Given the description of an element on the screen output the (x, y) to click on. 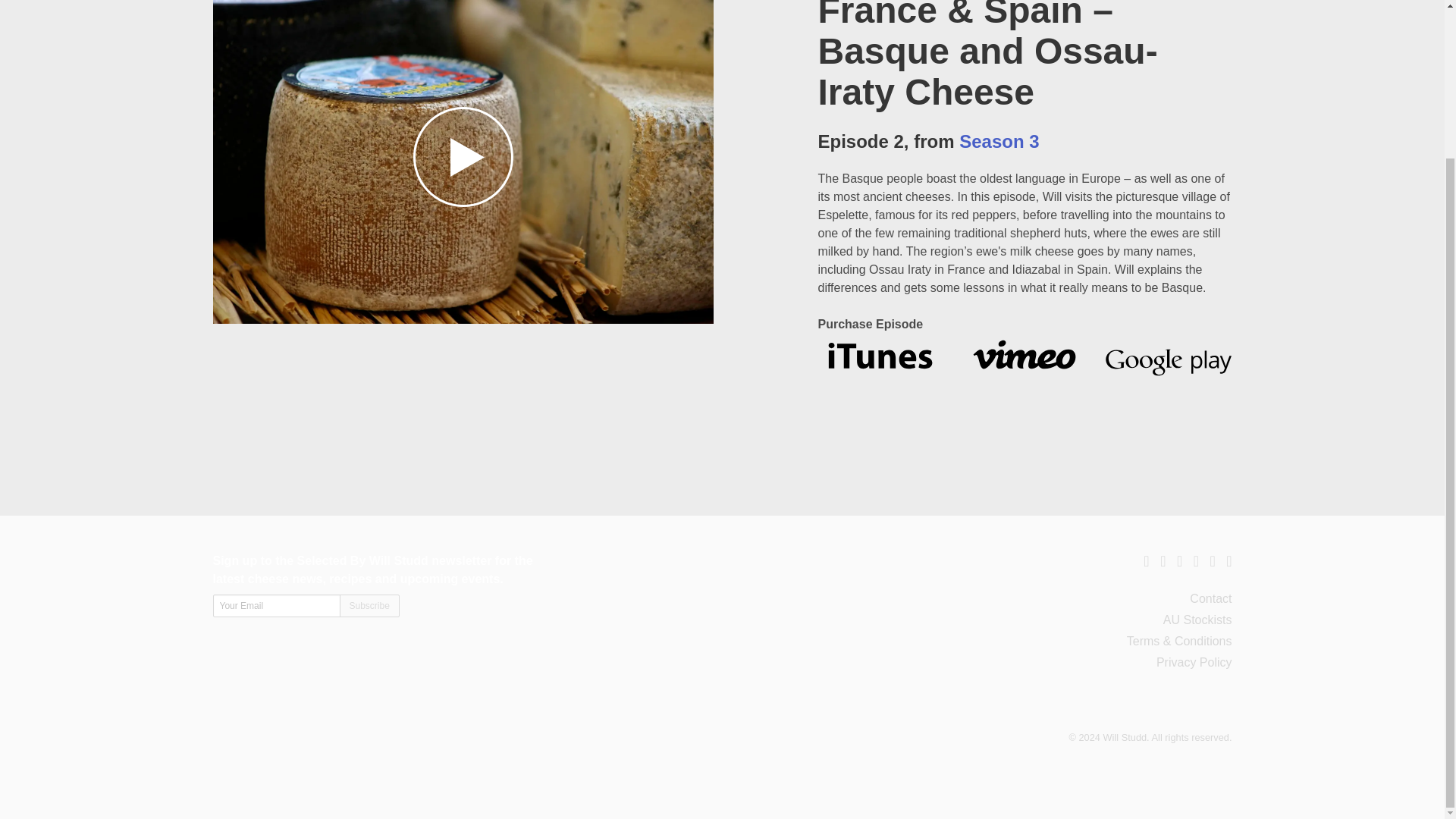
Season 3 (999, 141)
Subscribe (368, 605)
